Given the description of an element on the screen output the (x, y) to click on. 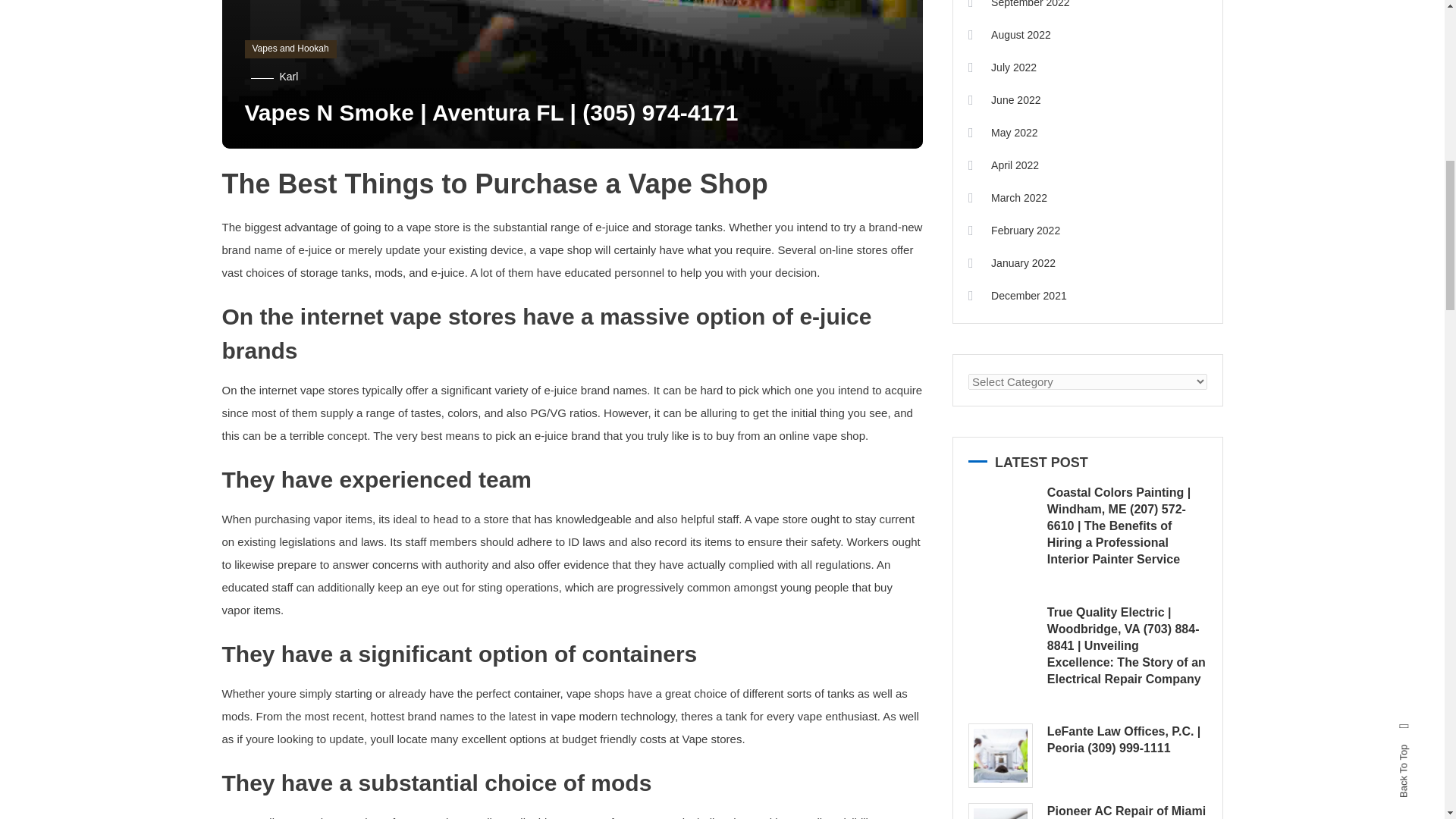
Vapes and Hookah (290, 49)
Karl (288, 75)
